Given the description of an element on the screen output the (x, y) to click on. 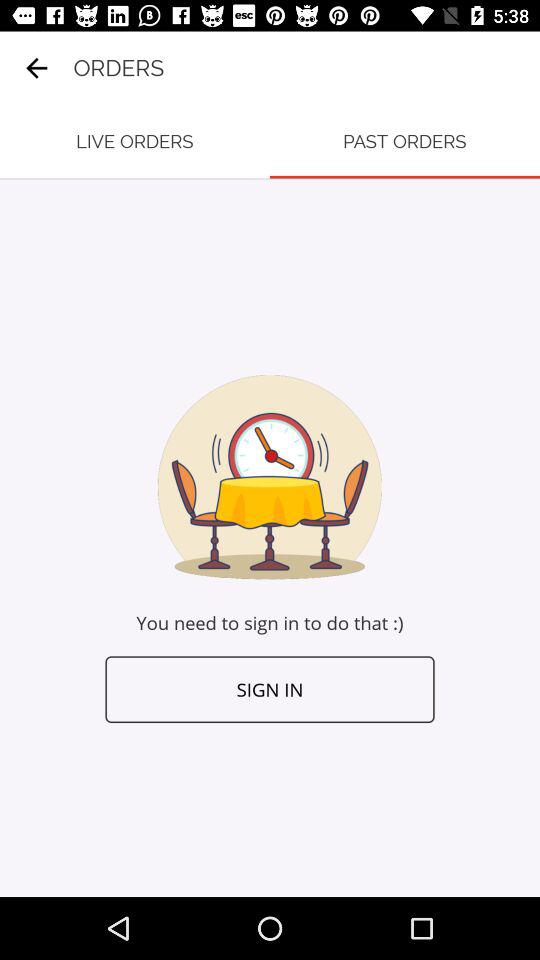
select icon next to the orders item (36, 68)
